Given the description of an element on the screen output the (x, y) to click on. 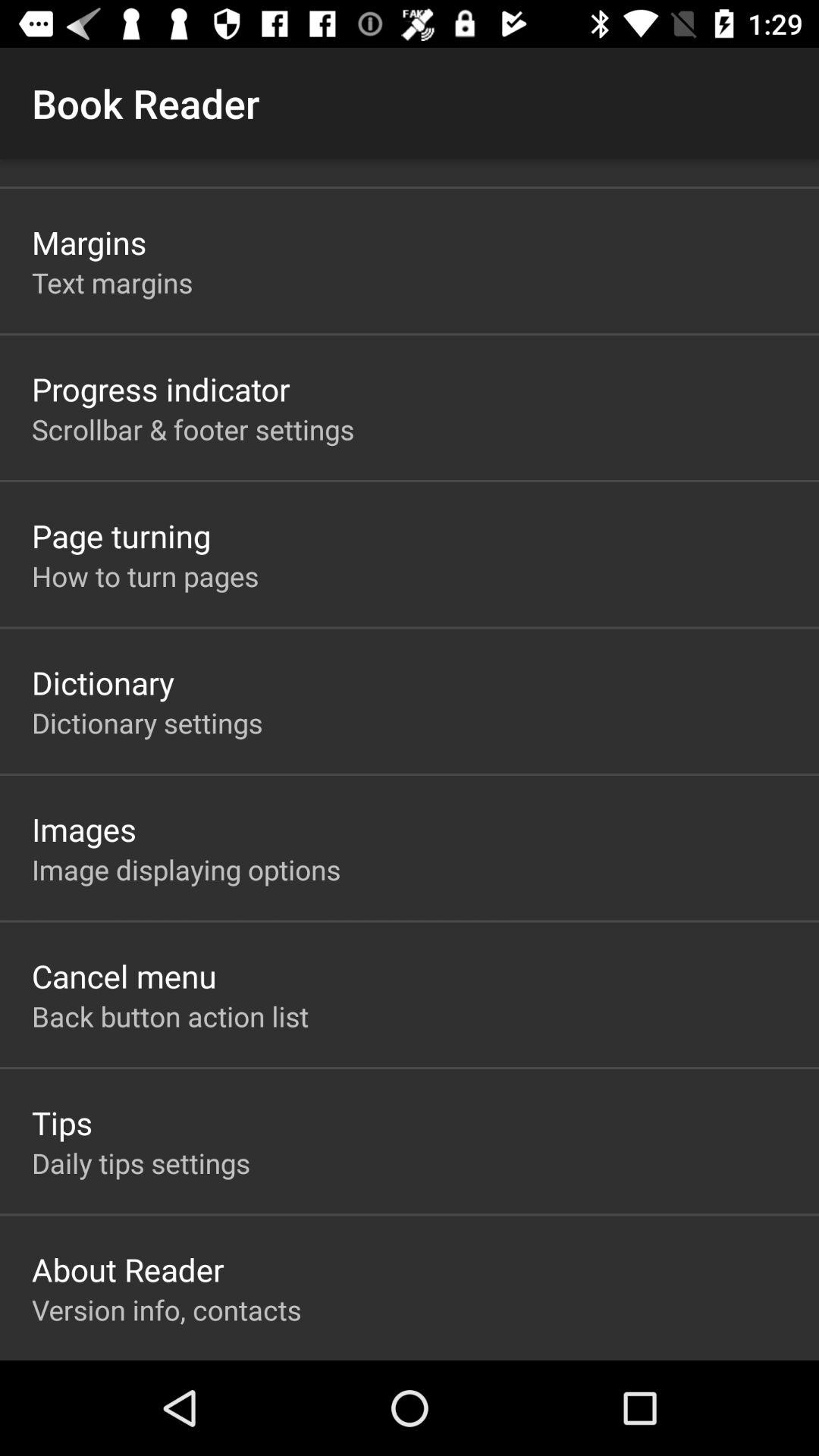
choose the app below images item (185, 869)
